Given the description of an element on the screen output the (x, y) to click on. 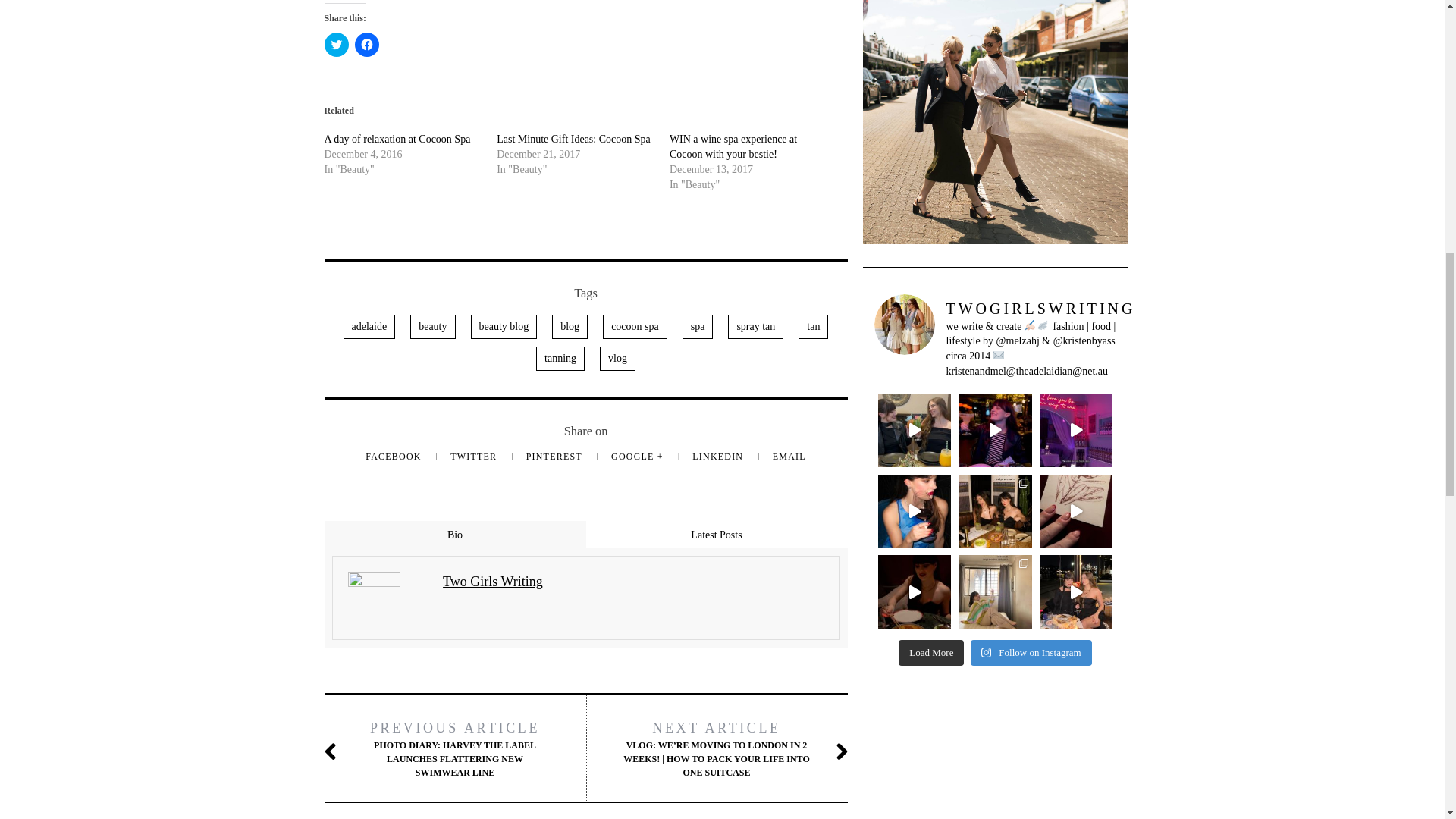
WIN a wine spa experience at Cocoon with your bestie! (732, 146)
A day of relaxation at Cocoon Spa (397, 138)
Click to share on Twitter (336, 44)
Last Minute Gift Ideas: Cocoon Spa (573, 138)
Click to share on Facebook (366, 44)
